Given the description of an element on the screen output the (x, y) to click on. 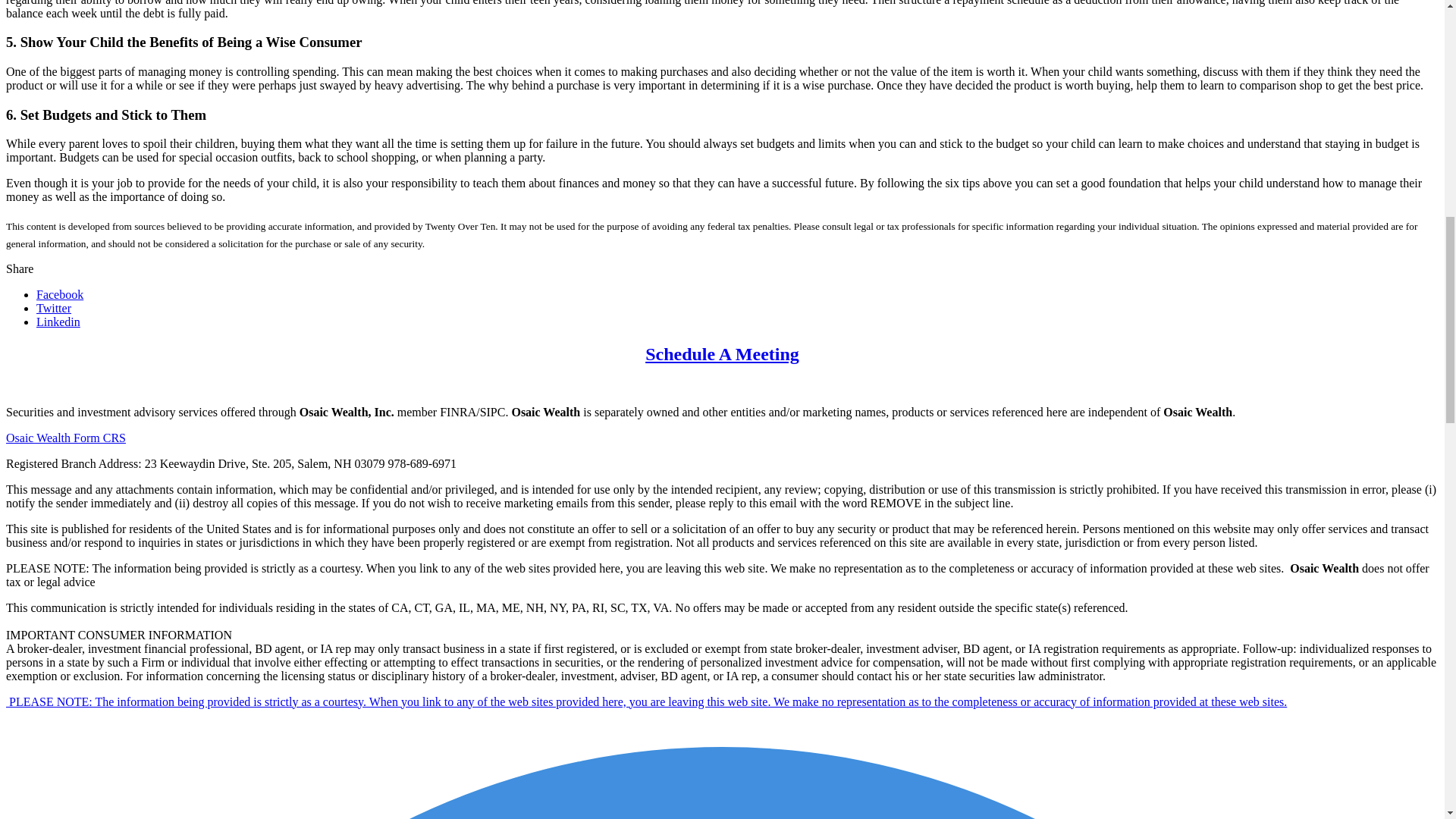
Linkedin (58, 321)
Osaic Wealth Form CRS (65, 437)
Twitter (53, 308)
Facebook (59, 294)
Schedule A Meeting (722, 353)
